Given the description of an element on the screen output the (x, y) to click on. 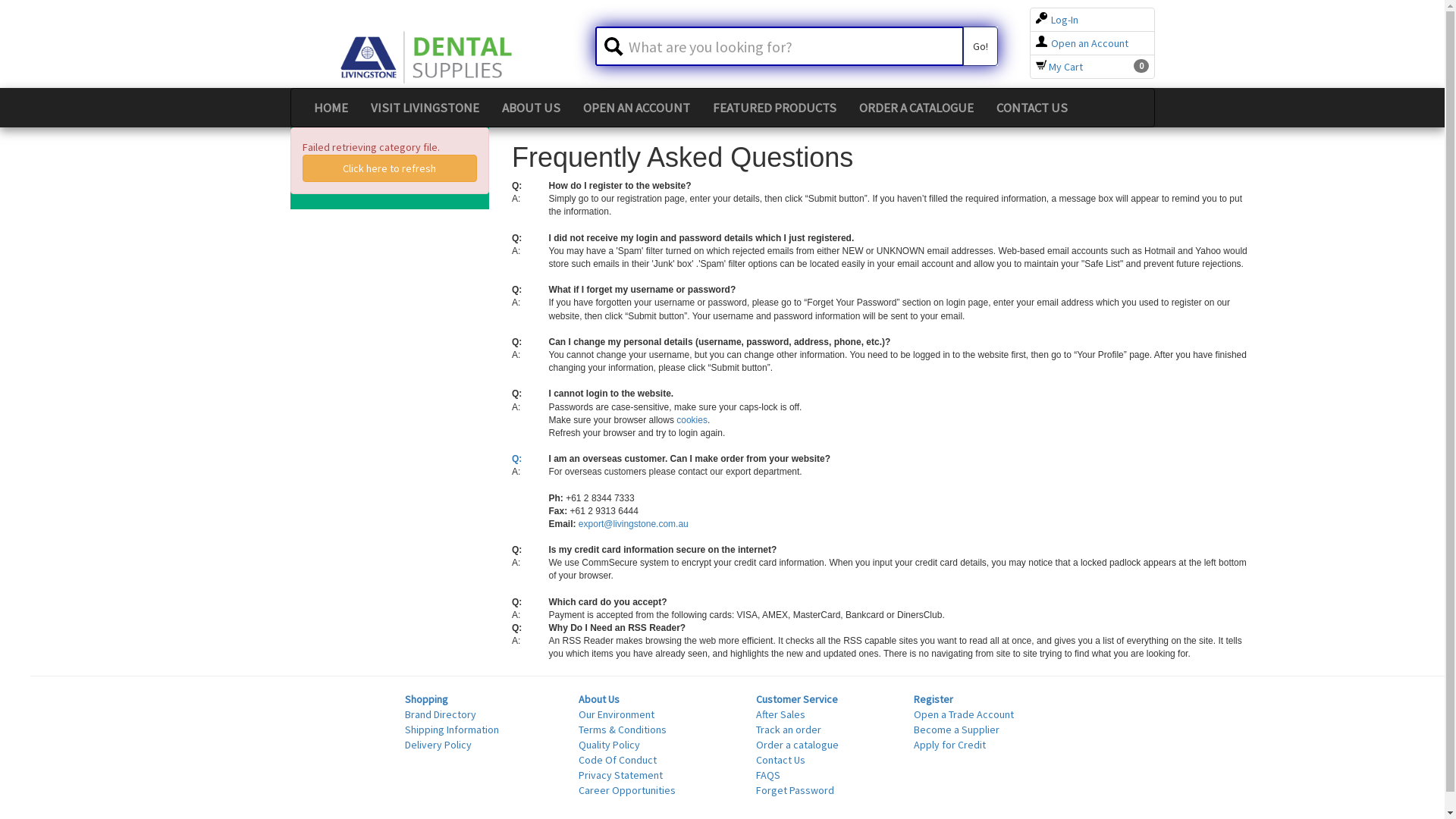
Brand Directory Element type: text (440, 714)
My Cart Element type: text (1058, 66)
Q: Element type: text (516, 458)
FEATURED PRODUCTS Element type: text (773, 107)
Delivery Policy Element type: text (437, 744)
Apply for Credit Element type: text (949, 744)
FAQS Element type: text (768, 774)
Contact Us Element type: text (780, 759)
Order a catalogue Element type: text (797, 744)
Log-In Element type: text (1056, 19)
HOME Element type: text (329, 107)
Customer Service Element type: text (796, 699)
Open an Account Element type: text (1081, 43)
Track an order Element type: text (788, 729)
cookies Element type: text (691, 419)
OPEN AN ACCOUNT Element type: text (636, 107)
After Sales Element type: text (780, 714)
Code Of Conduct Element type: text (617, 759)
Register Element type: text (933, 699)
Privacy Statement Element type: text (620, 774)
Quality Policy Element type: text (609, 744)
Forget Password Element type: text (795, 790)
CONTACT US Element type: text (1031, 107)
Our Environment Element type: text (616, 714)
ABOUT US Element type: text (530, 107)
Go! Element type: text (980, 45)
Terms & Conditions Element type: text (622, 729)
Open a Trade Account Element type: text (963, 714)
Career Opportunities Element type: text (626, 790)
Shopping Element type: text (426, 699)
Shipping Information Element type: text (451, 729)
ORDER A CATALOGUE Element type: text (916, 107)
Click here to refresh Element type: text (388, 168)
Become a Supplier Element type: text (956, 729)
About Us Element type: text (598, 699)
export@livingstone.com.au Element type: text (633, 523)
VISIT LIVINGSTONE Element type: text (424, 107)
